Given the description of an element on the screen output the (x, y) to click on. 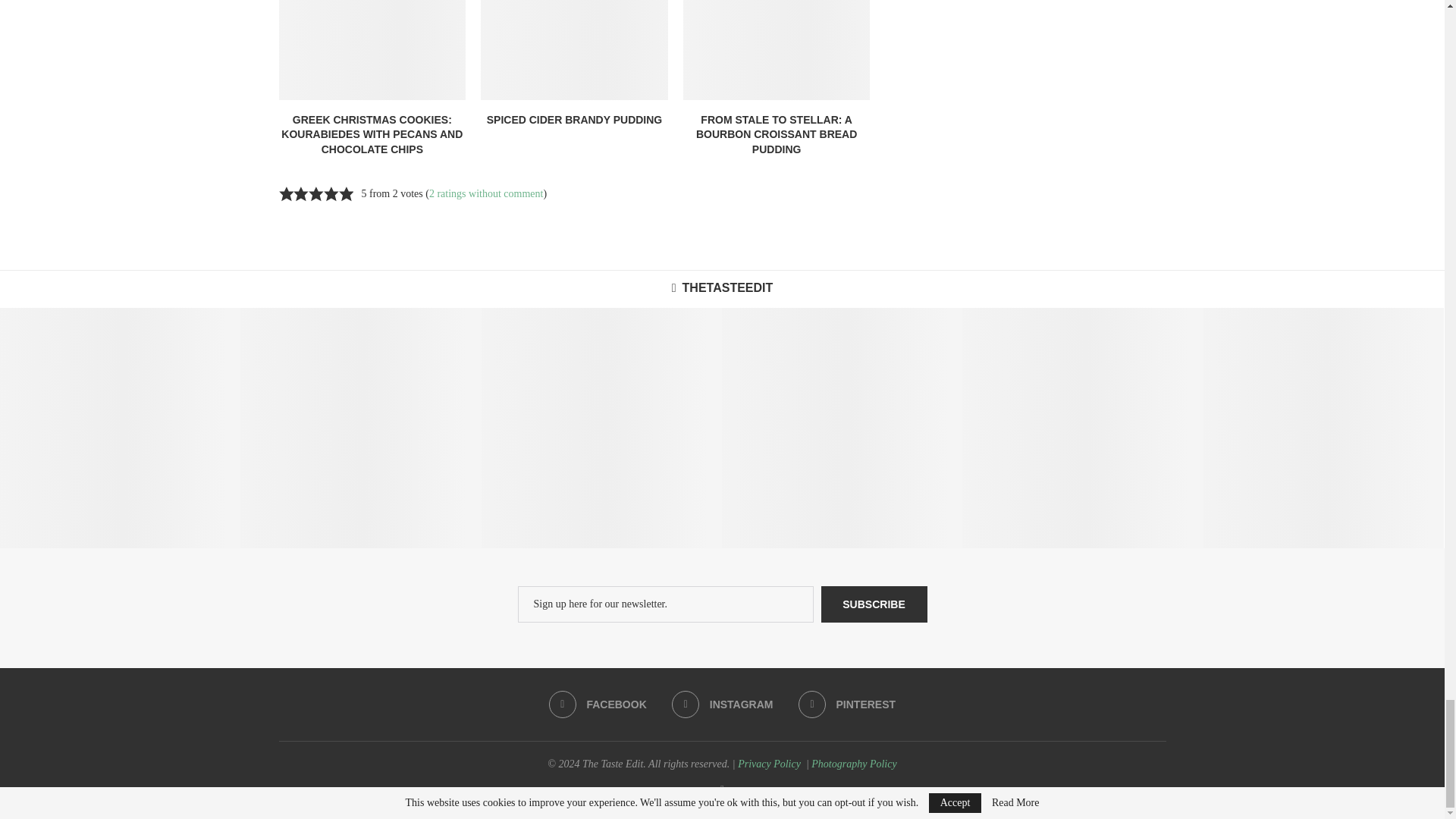
Subscribe (873, 604)
From Stale to Stellar: A Bourbon Croissant Bread Pudding (776, 49)
Spiced Cider Brandy Pudding (574, 49)
